Given the description of an element on the screen output the (x, y) to click on. 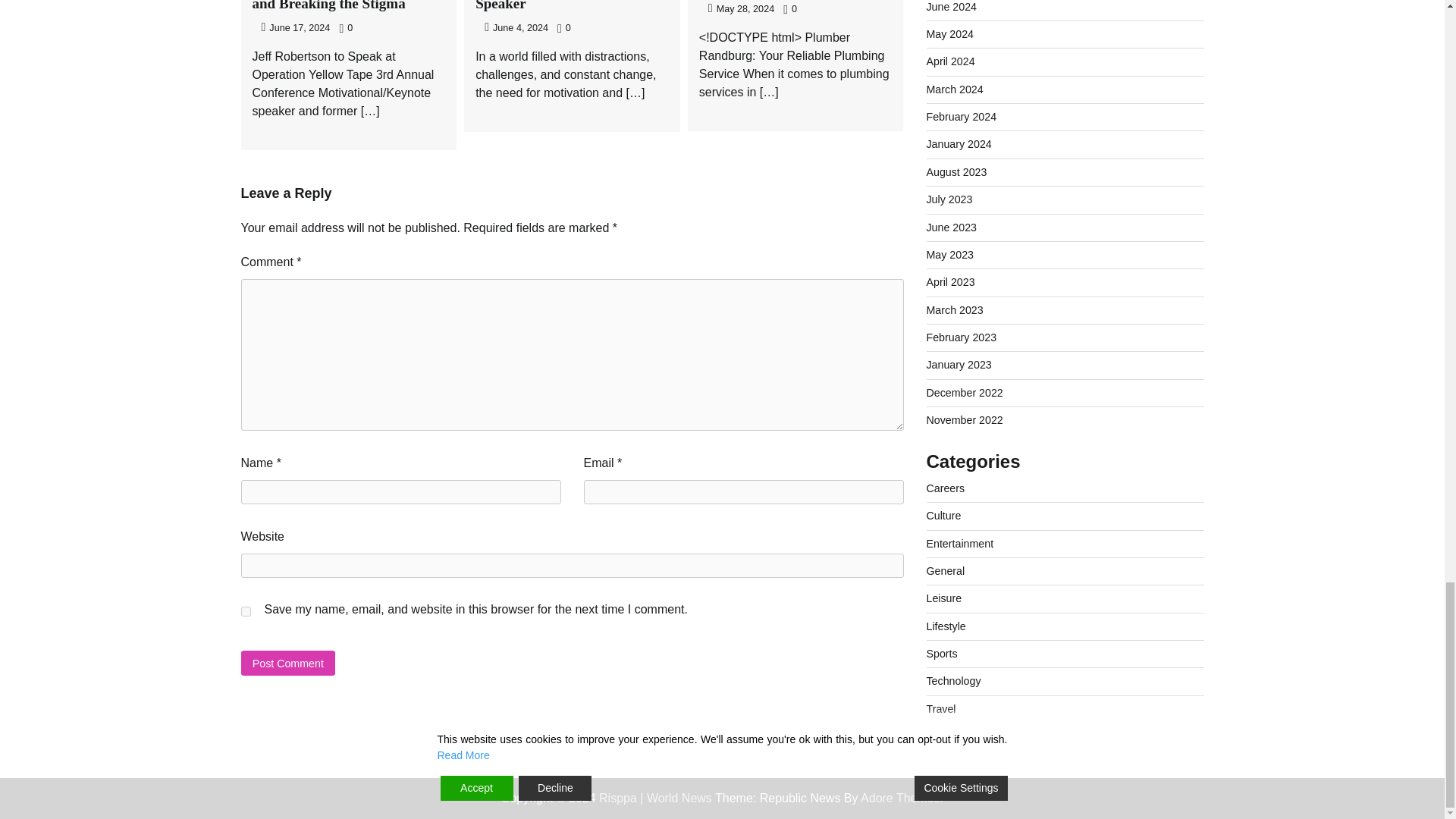
Post Comment (288, 662)
Post Comment (288, 662)
yes (245, 611)
